Given the description of an element on the screen output the (x, y) to click on. 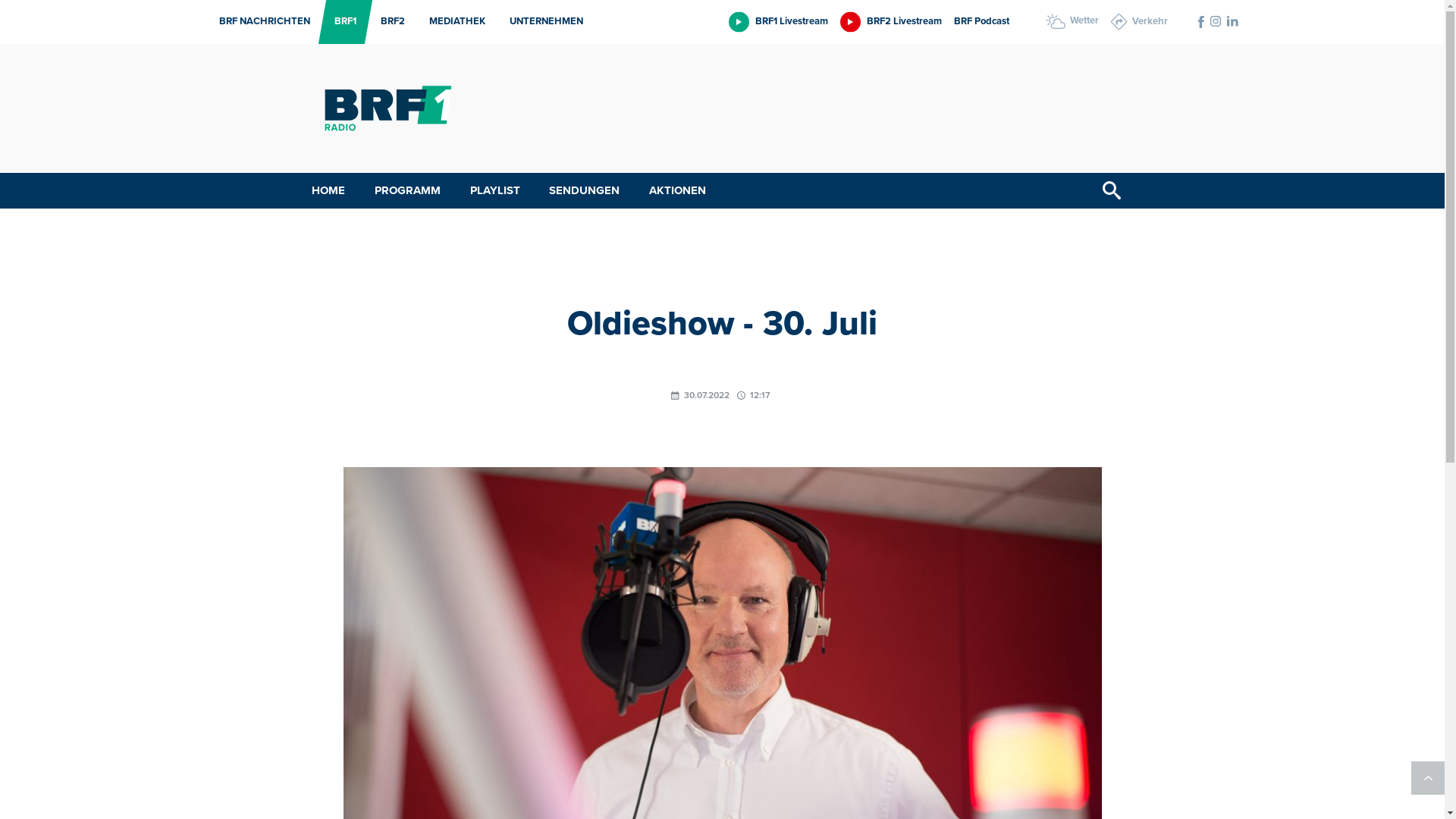
BRF1 Element type: text (340, 21)
MEDIATHEK Element type: text (452, 21)
Wetter Element type: text (1071, 20)
AKTIONEN Element type: text (677, 190)
Nach oben Element type: text (1427, 777)
BRF2 Livestream Element type: text (890, 21)
SENDUNGEN Element type: text (583, 190)
BRF2 Element type: text (388, 21)
PLAYLIST Element type: text (495, 190)
BRF NACHRICHTEN Element type: text (259, 21)
BRF Podcast Element type: text (981, 21)
HOME Element type: text (328, 190)
Suchen Element type: hover (1111, 190)
Verkehr Element type: text (1138, 21)
PROGRAMM Element type: text (407, 190)
UNTERNEHMEN Element type: text (541, 21)
BRF1 Livestream Element type: text (777, 21)
